Given the description of an element on the screen output the (x, y) to click on. 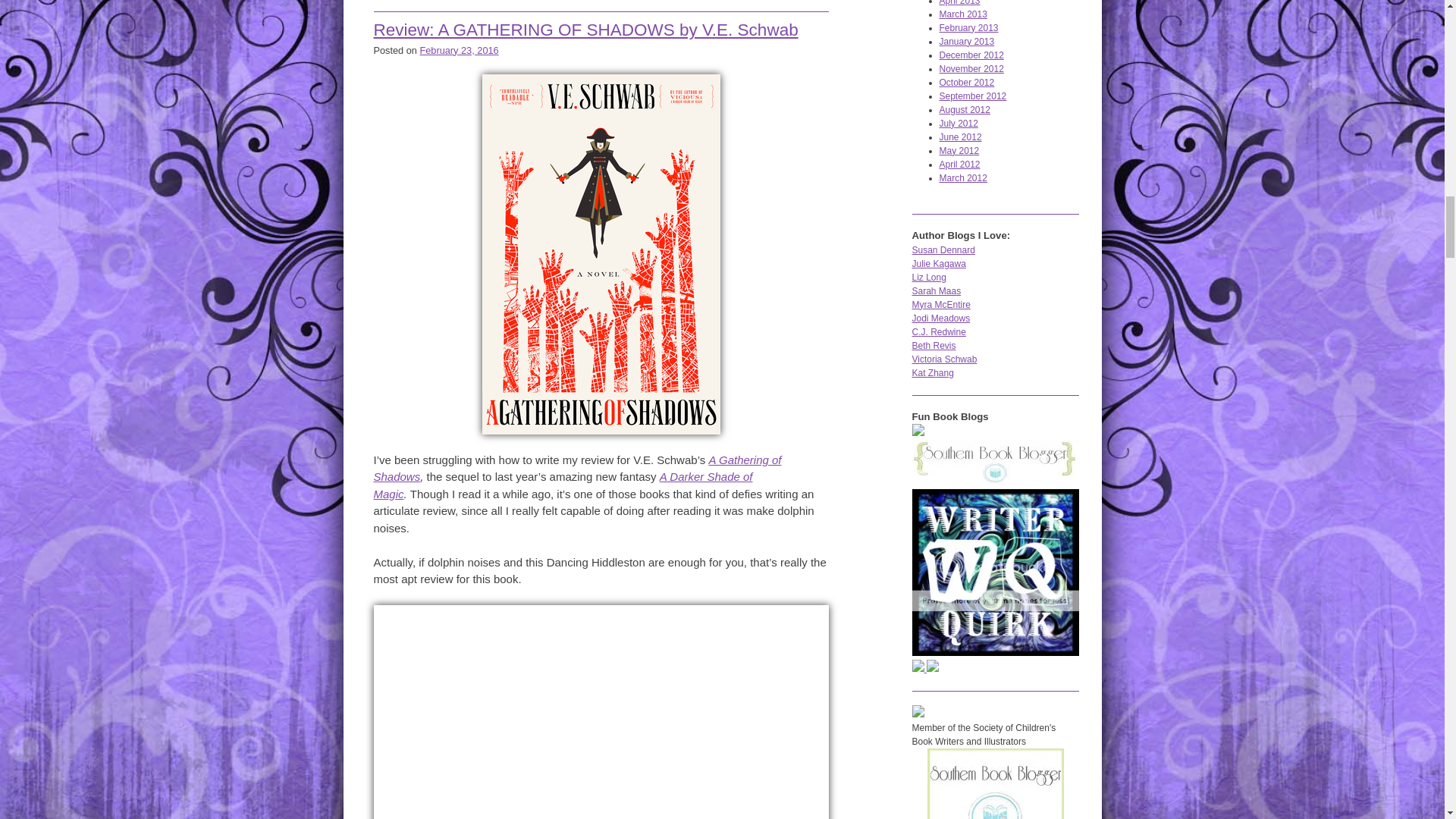
10:21 am (458, 50)
A Darker Shade of Magic (562, 485)
February 23, 2016 (458, 50)
